Given the description of an element on the screen output the (x, y) to click on. 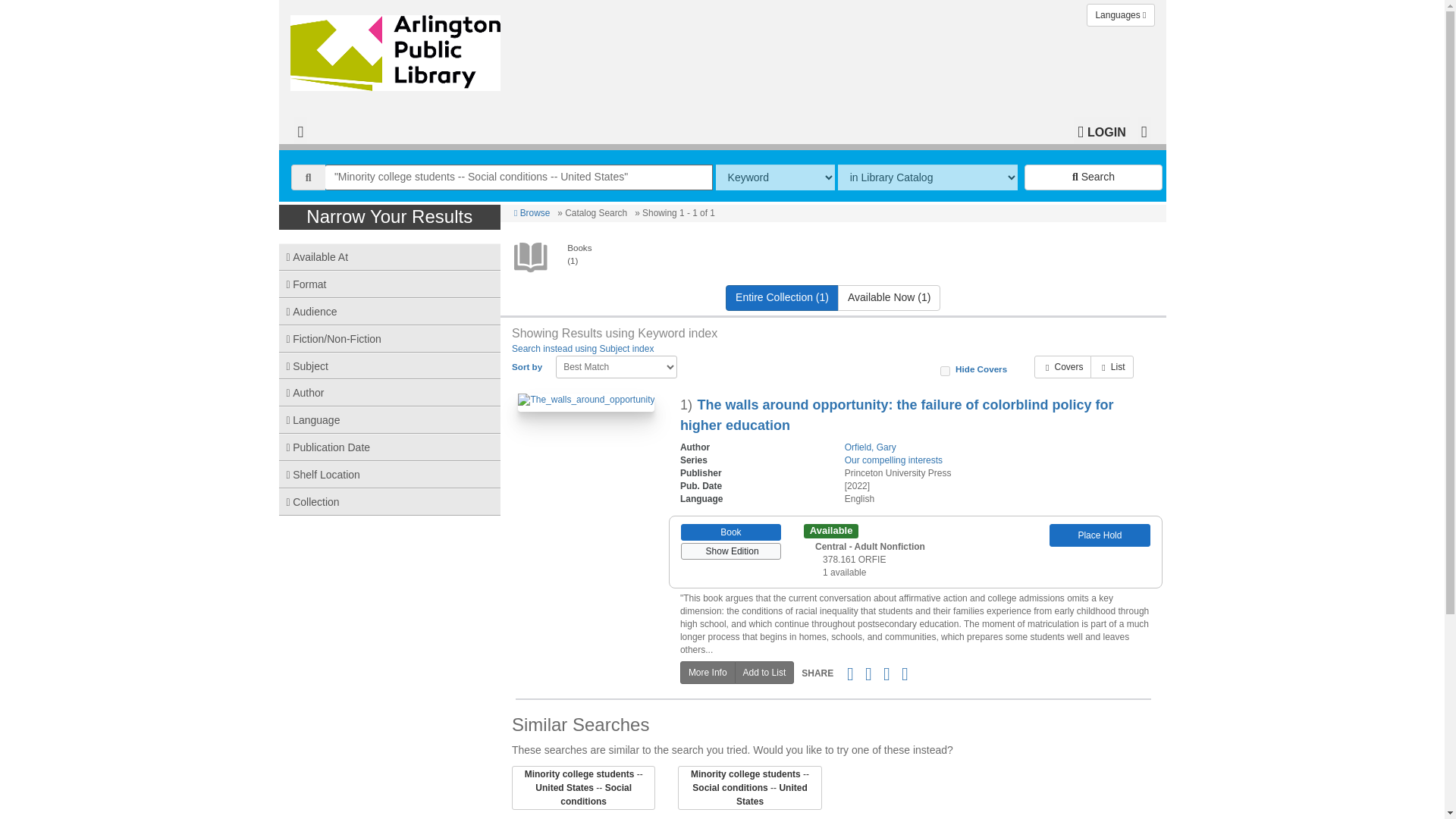
The method of searching. (775, 177)
Browse (531, 213)
 Search (1093, 177)
Languages  (1120, 15)
LOGIN (1101, 130)
Search instead using Subject index (582, 348)
on (945, 370)
Login (1101, 130)
Library Home Page (397, 48)
